Given the description of an element on the screen output the (x, y) to click on. 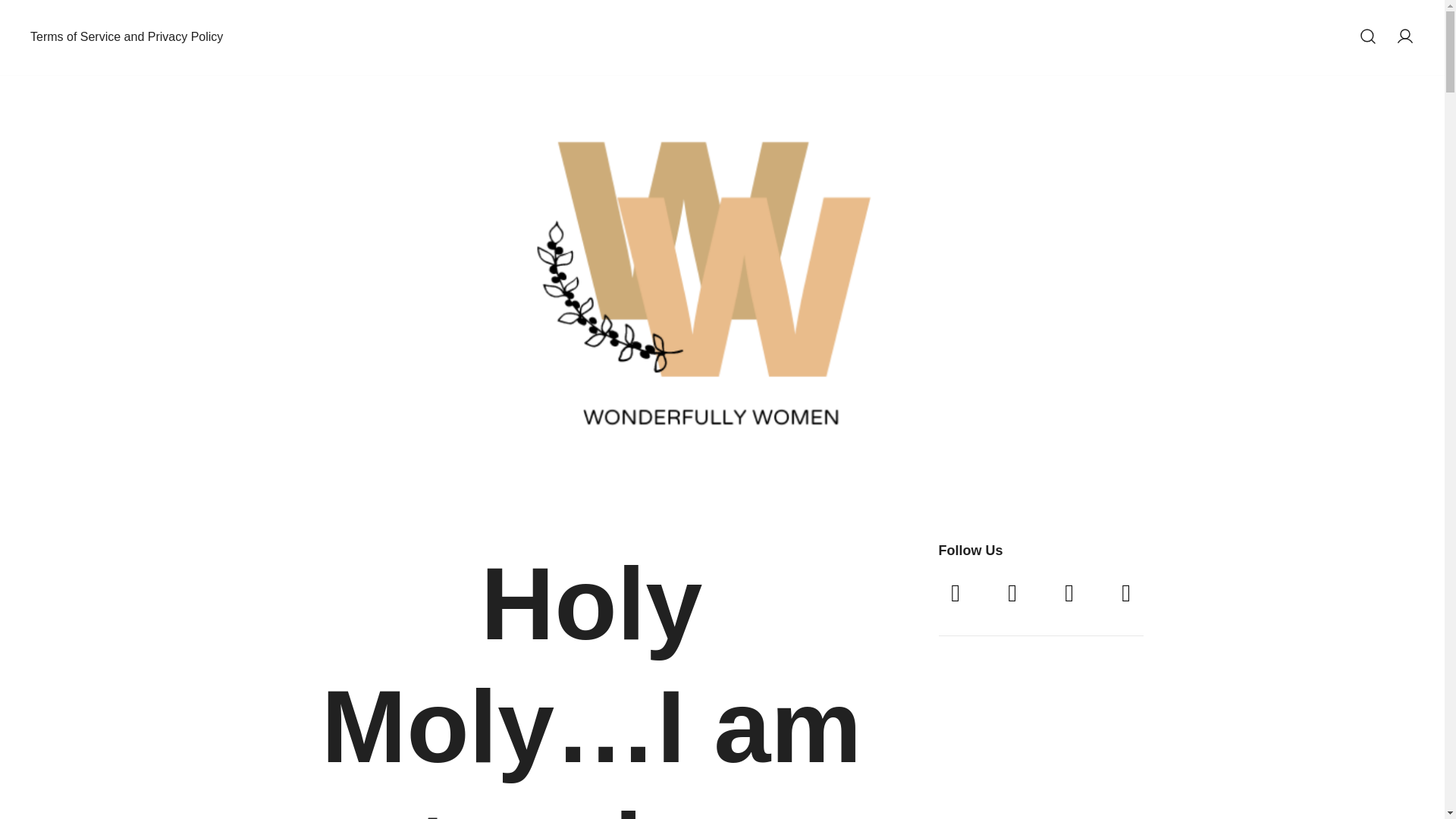
Terms of Service and Privacy Policy (126, 37)
Your account (1404, 37)
Wonderfully Women (794, 45)
